Given the description of an element on the screen output the (x, y) to click on. 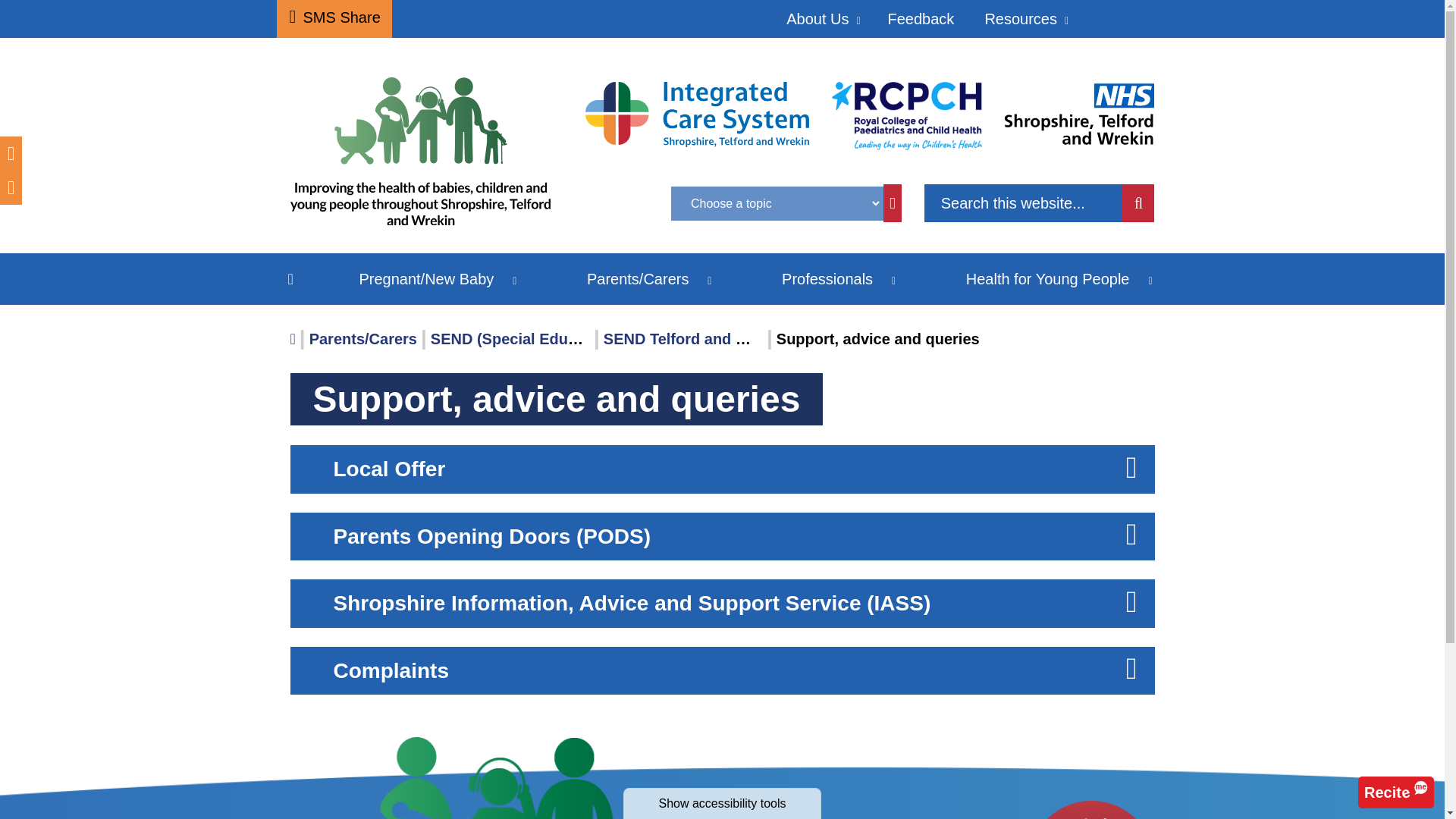
Find a local service (1090, 809)
Resources (1024, 18)
STW NHS (1079, 112)
Show accessibility tools (722, 803)
Feedback (920, 18)
Send this link to a friend via text message! (333, 18)
SMS Share (333, 18)
Shropshire, Telford and Wrekin Integrated Care System (697, 113)
Homepage (425, 157)
The Royal College of Paediatrics and Child Health (906, 114)
